Given the description of an element on the screen output the (x, y) to click on. 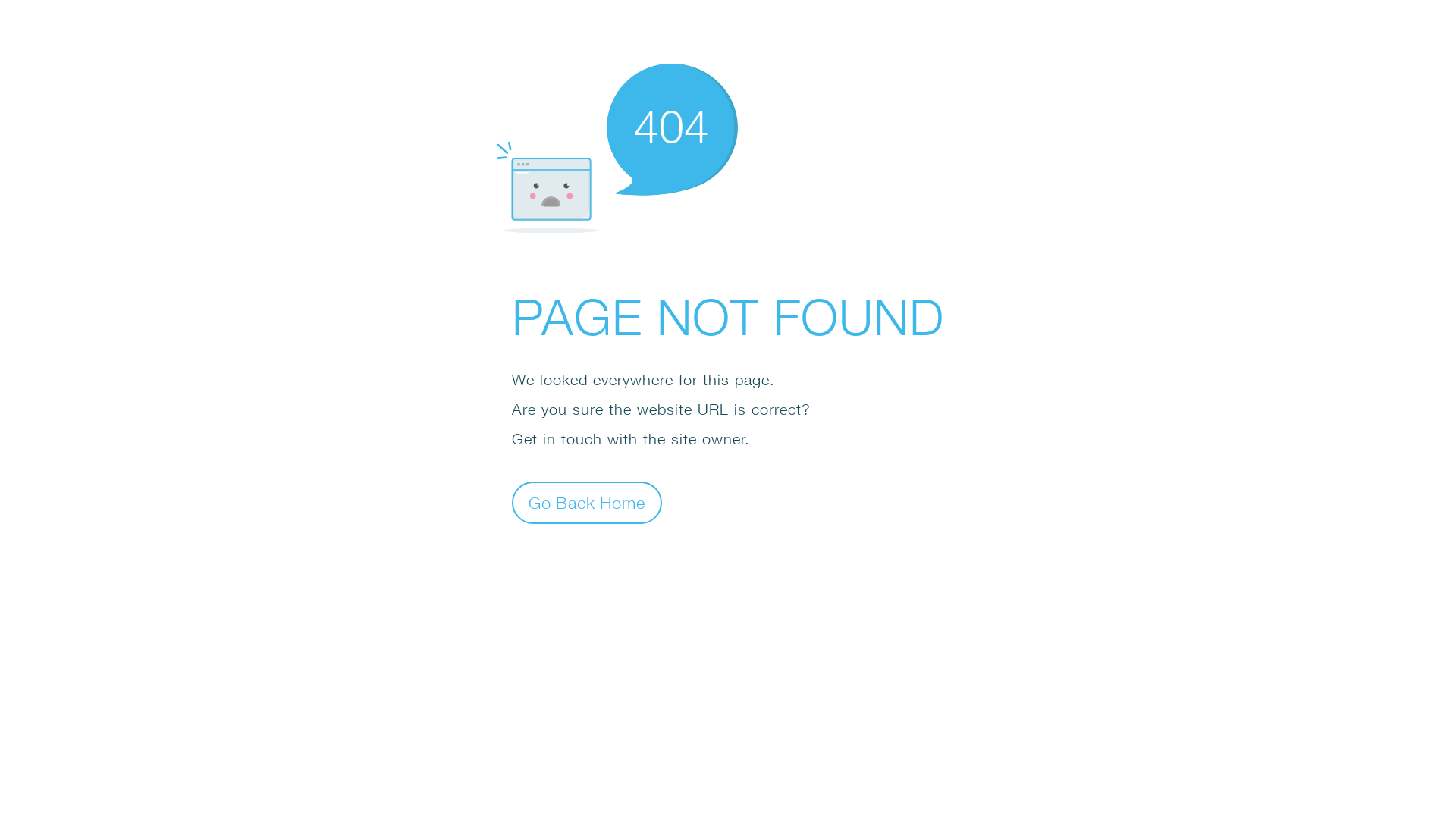
Go Back Home Element type: text (586, 502)
